Given the description of an element on the screen output the (x, y) to click on. 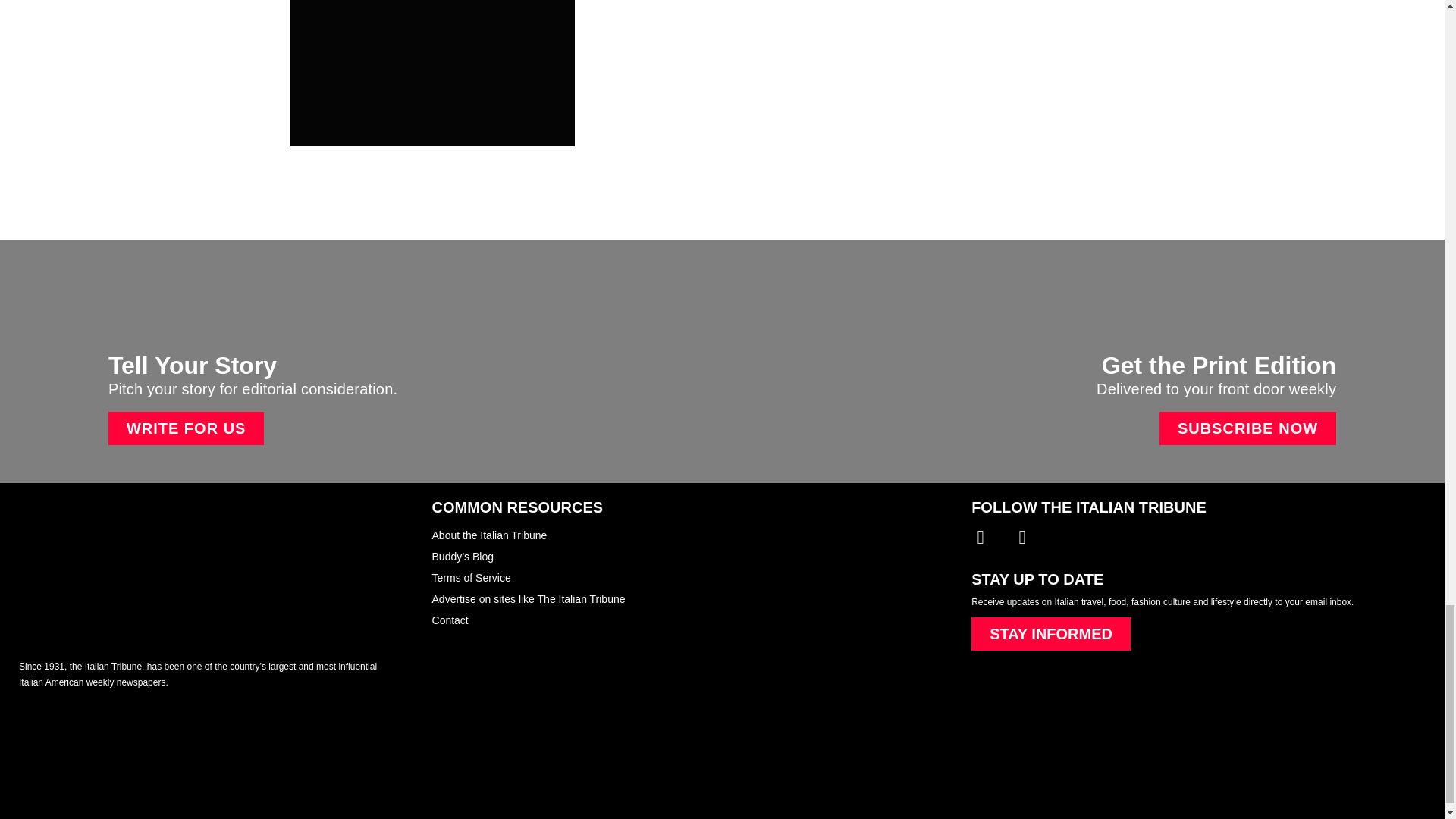
Aitken-Media-Logo-Light.png (111, 767)
